Given the description of an element on the screen output the (x, y) to click on. 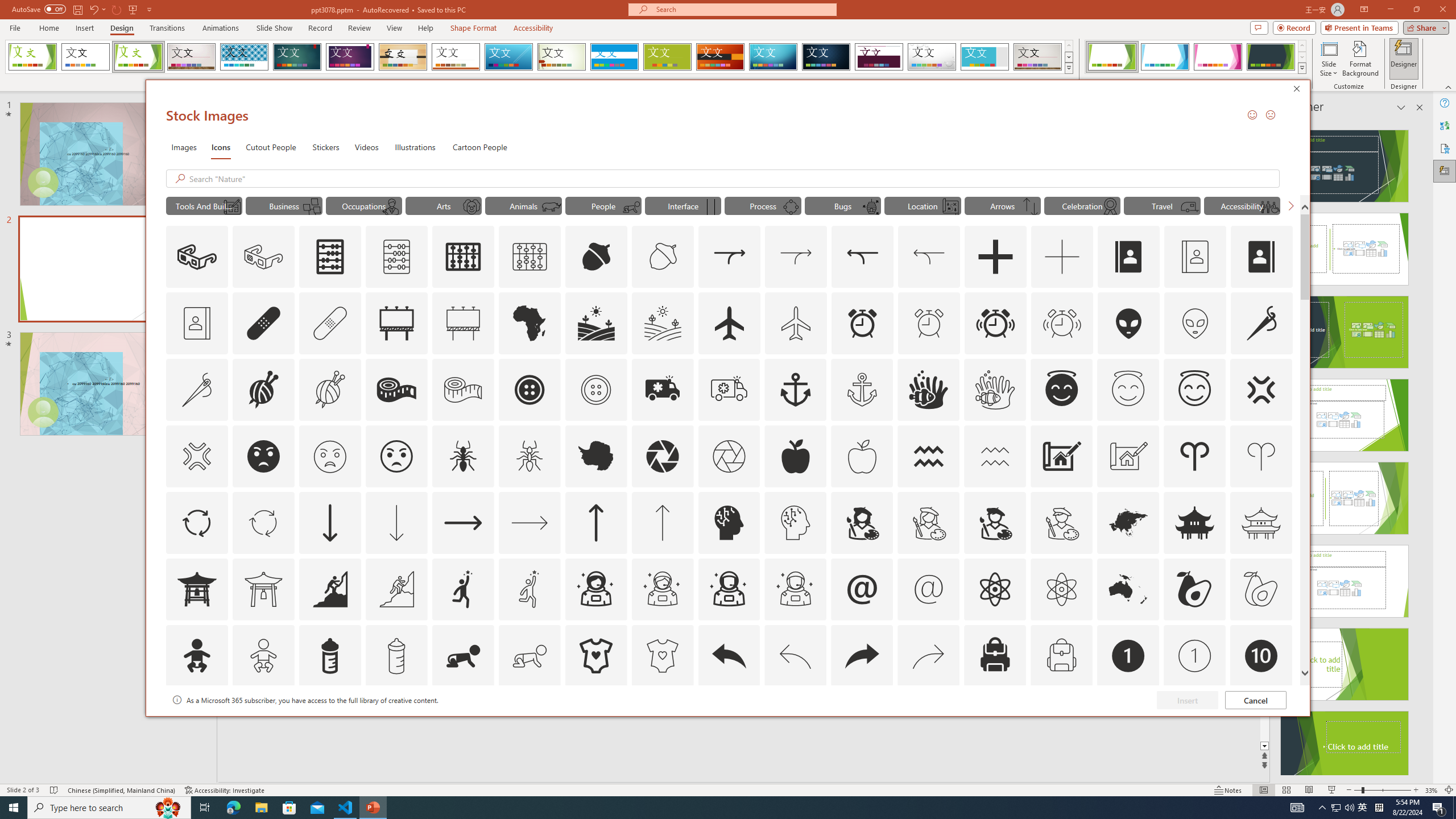
AutomationID: Icons (1260, 721)
AutomationID: Icons_Asia (1128, 522)
Integral (1322, 807)
AutomationID: Icons_Backpack (244, 56)
"Interface" Icons. (995, 655)
AutomationID: Icons_Badge4_M (682, 205)
AutomationID: Icons_AnemoneAndClownfish_M (595, 721)
